Given the description of an element on the screen output the (x, y) to click on. 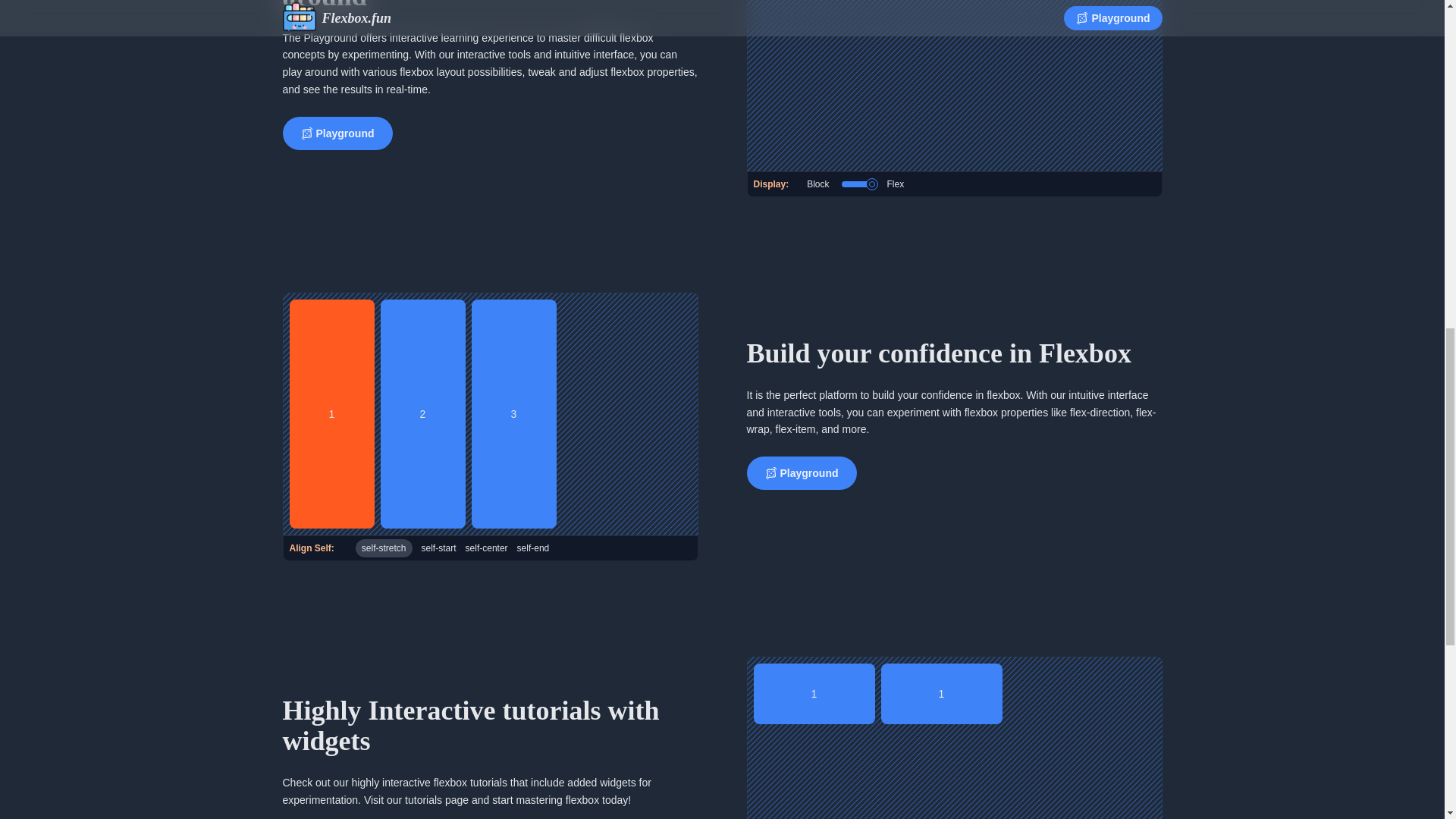
Playground (336, 133)
Playground (800, 472)
self-stretch (383, 547)
self-end (533, 547)
self-center (486, 547)
Enable notifications (858, 183)
self-start (439, 547)
